Given the description of an element on the screen output the (x, y) to click on. 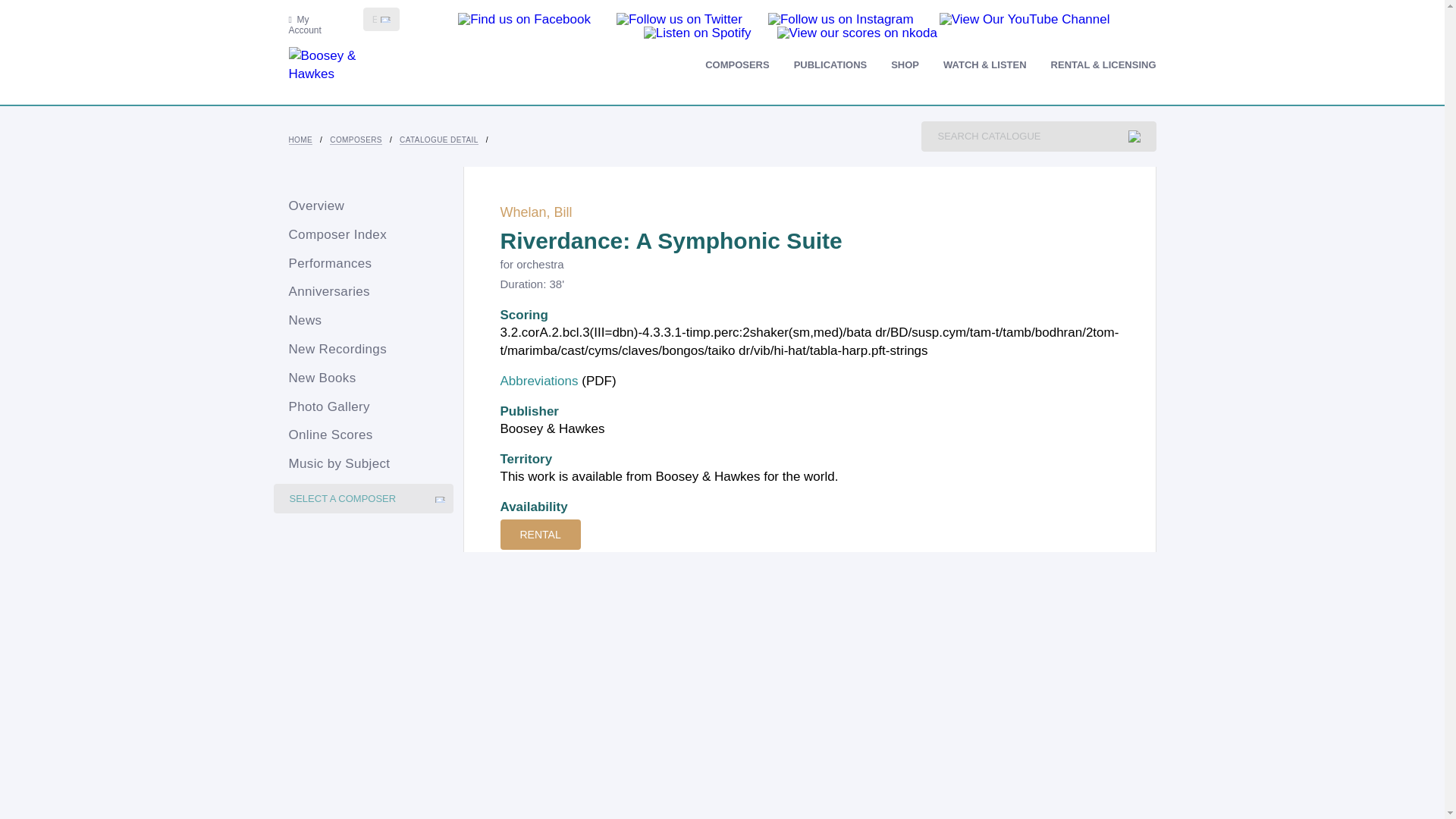
View Our YouTube Channel (1024, 18)
Find us on Facebook (524, 18)
Follow us on Instagram (841, 18)
  My Account (304, 25)
Follow us on Twitter (678, 18)
View our scores on nkoda (857, 32)
SHOP (904, 64)
Listen on Spotify (697, 32)
PUBLICATIONS (830, 64)
COMPOSERS (737, 64)
